Given the description of an element on the screen output the (x, y) to click on. 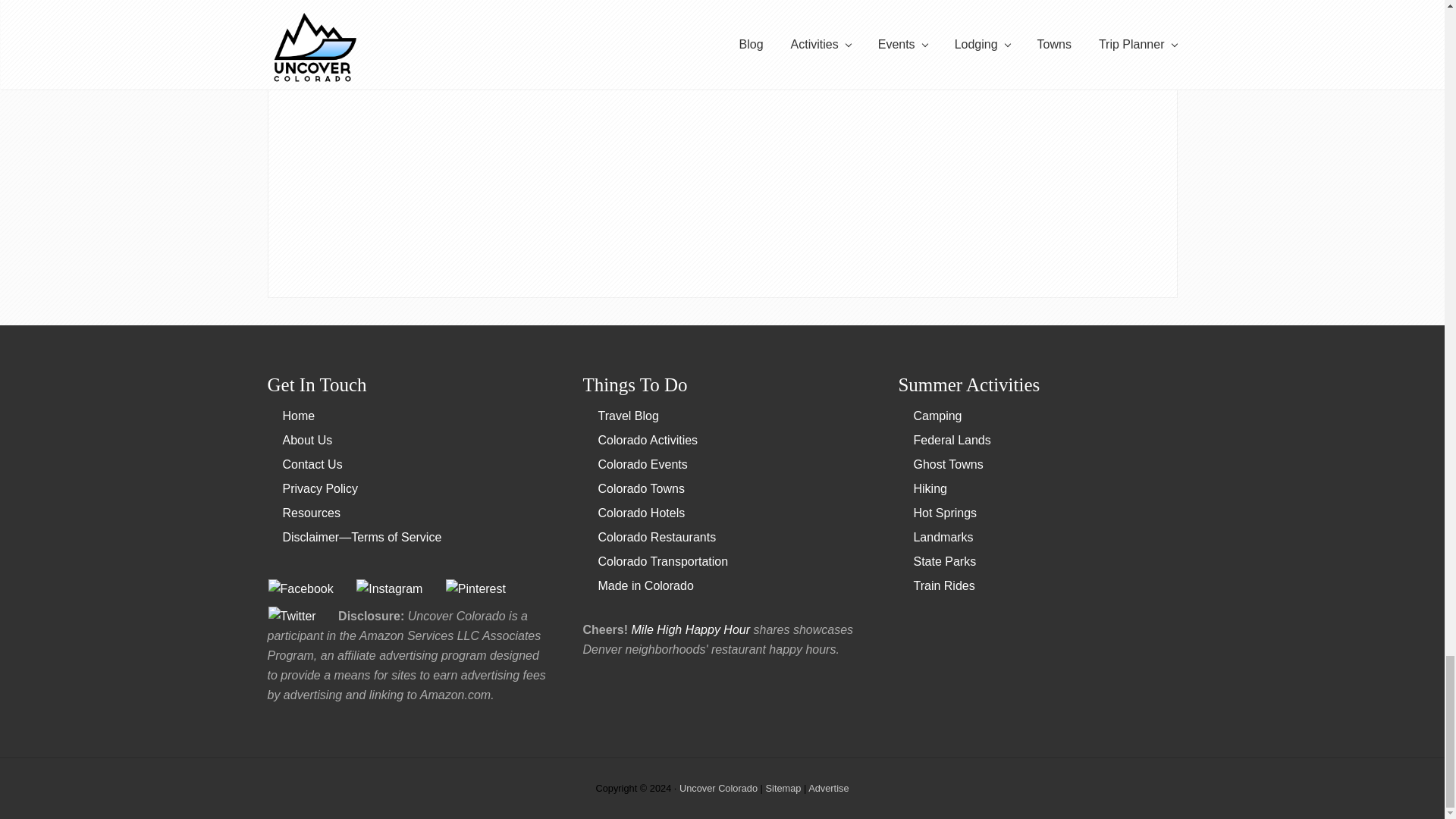
Contact Uncover Colorado (312, 463)
About Uncover Colorado (306, 440)
Privacy Policy (320, 488)
Colorado Travel Guide (298, 415)
